Given the description of an element on the screen output the (x, y) to click on. 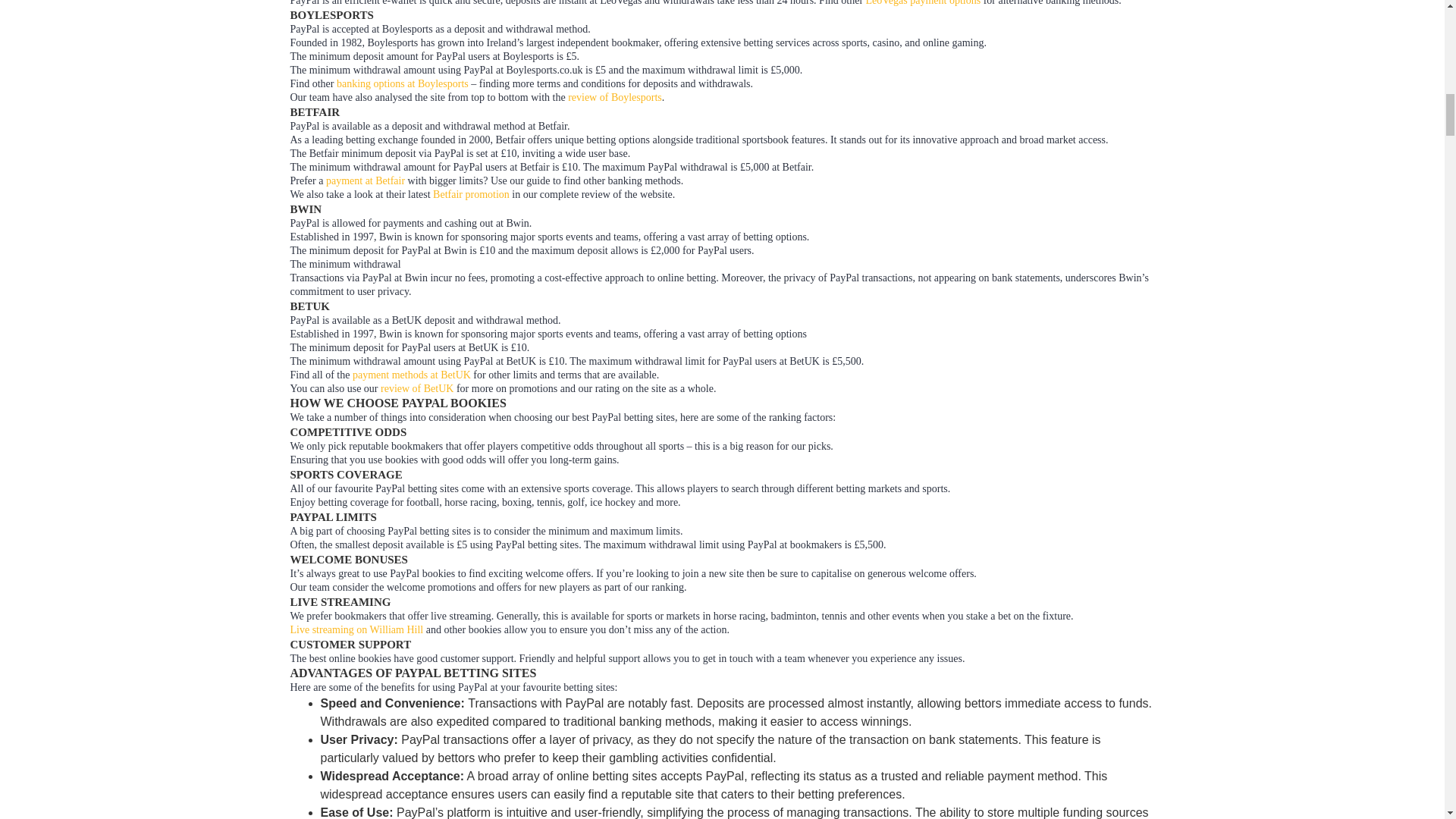
Live streaming on William Hill (356, 629)
review of Boylesports (614, 97)
banking options at Boylesports (402, 83)
LeoVegas payment options (923, 2)
payment methods at BetUK (411, 374)
review of BetUK (416, 388)
Betfair promotion (470, 194)
payment at Betfair (365, 180)
